Given the description of an element on the screen output the (x, y) to click on. 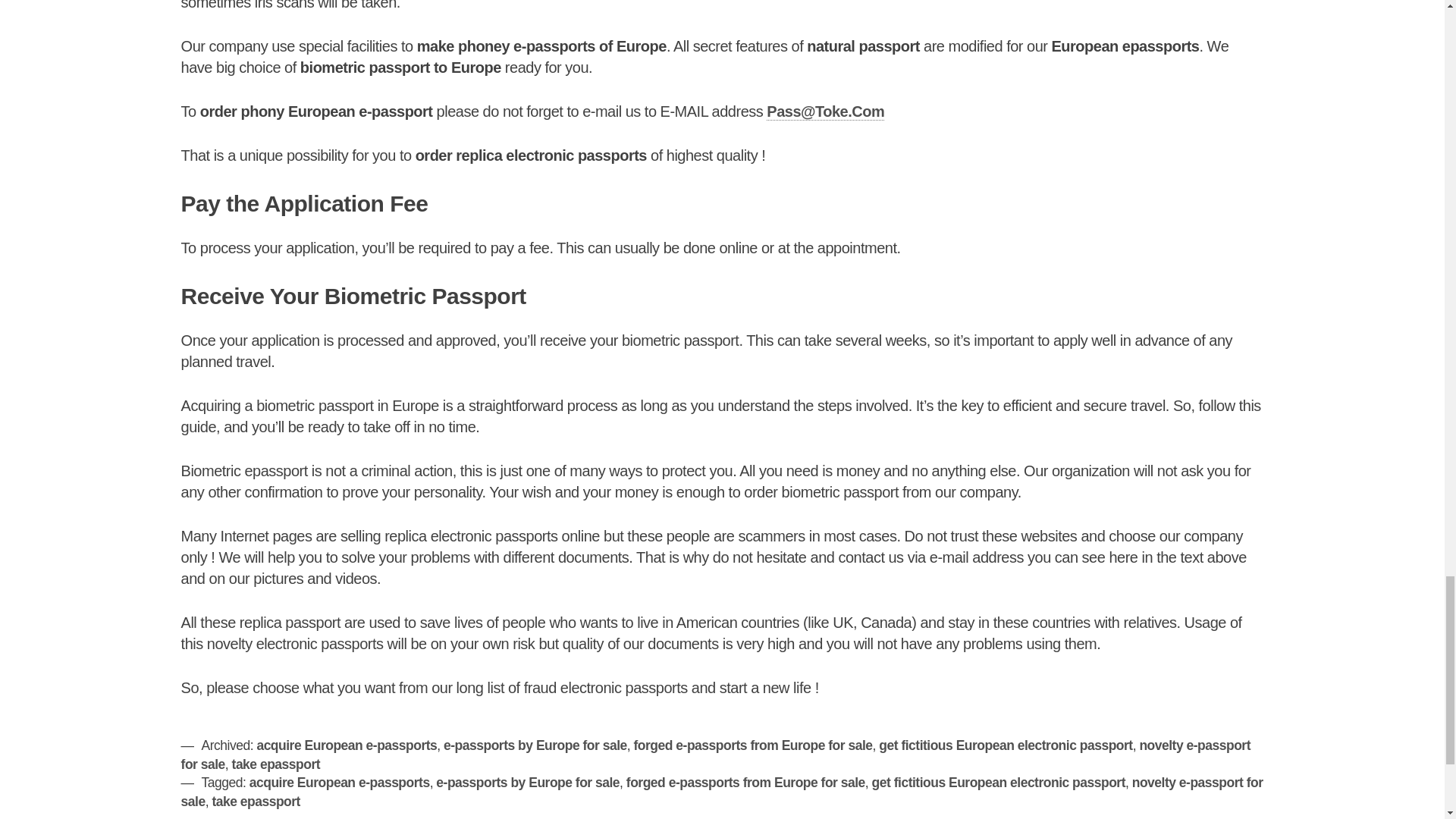
acquire European e-passports (346, 744)
take epassport (275, 764)
novelty e-passport for sale (715, 754)
get fictitious European electronic passport (998, 782)
forged e-passports from Europe for sale (752, 744)
forged e-passports from Europe for sale (745, 782)
e-passports by Europe for sale (527, 782)
e-passports by Europe for sale (535, 744)
novelty e-passport for sale (721, 791)
get fictitious European electronic passport (1005, 744)
acquire European e-passports (338, 782)
take epassport (255, 800)
